Given the description of an element on the screen output the (x, y) to click on. 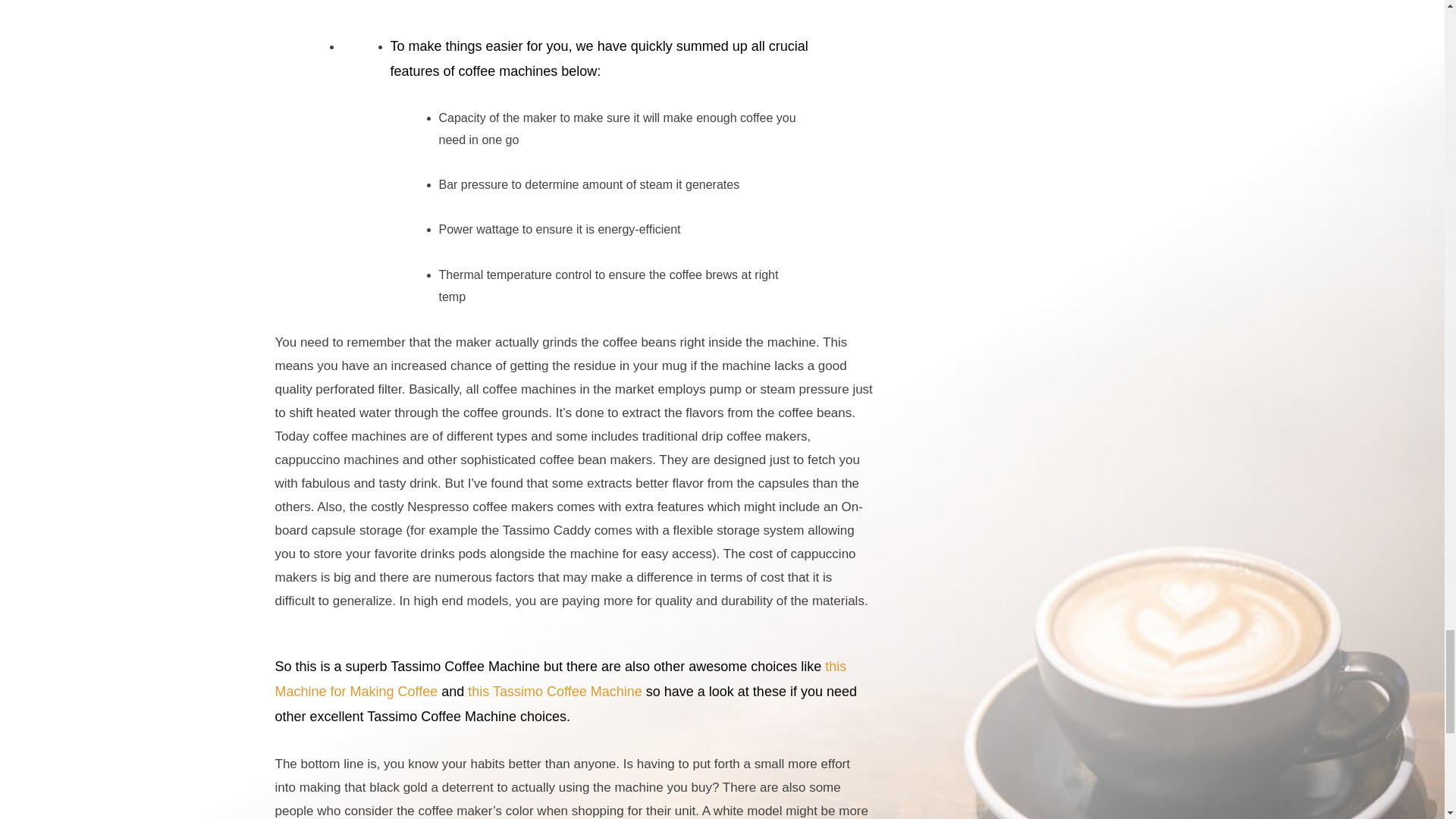
this Machine for Making Coffee (560, 679)
this Tassimo Coffee Machine (554, 691)
